Given the description of an element on the screen output the (x, y) to click on. 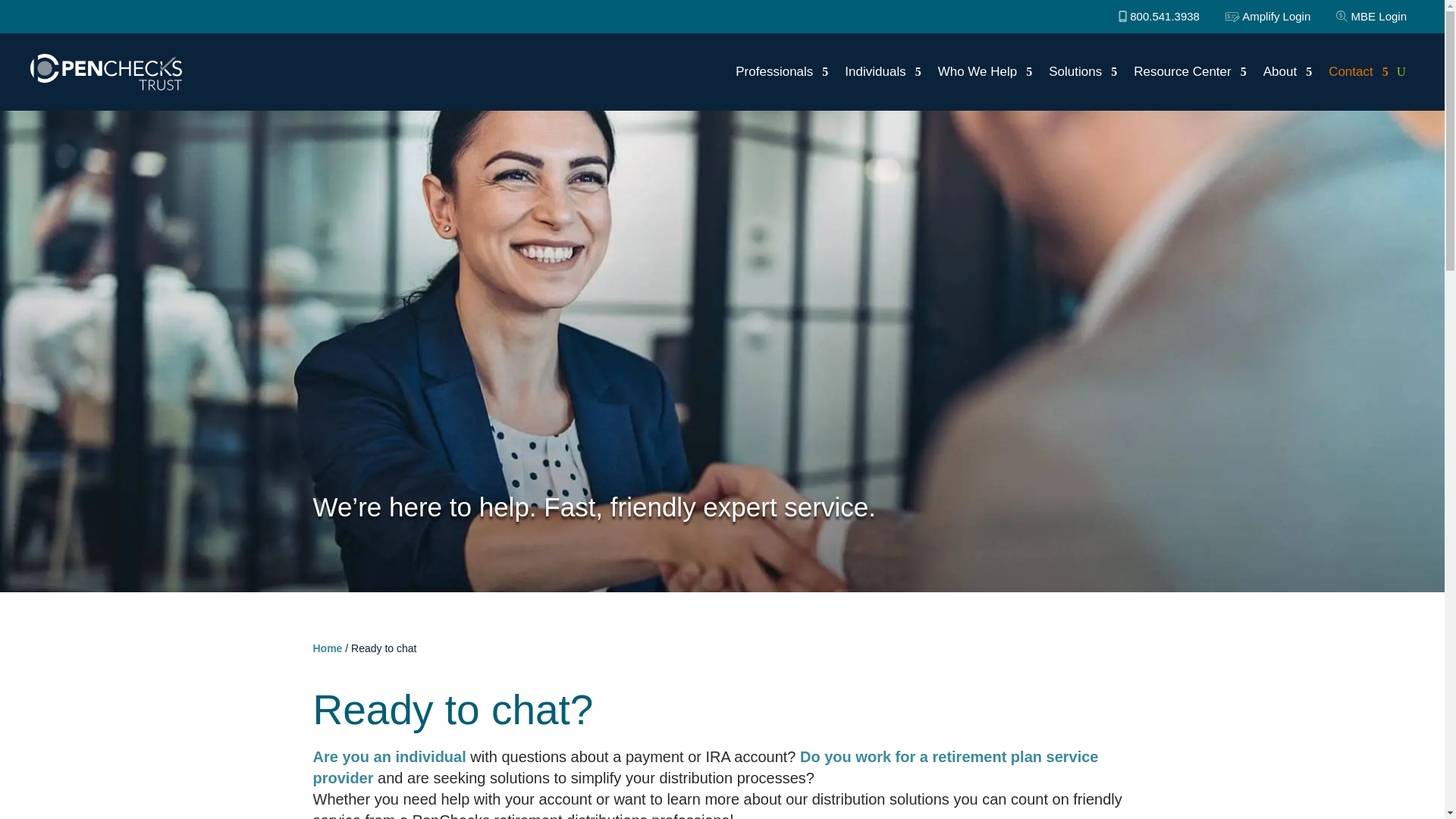
800.541.3938 (1158, 15)
Solutions (1082, 71)
Who We Help (984, 71)
MBE Login (1371, 15)
Professionals (781, 71)
Resource Center (1190, 71)
Amplify Login (1267, 15)
Individuals (882, 71)
